Given the description of an element on the screen output the (x, y) to click on. 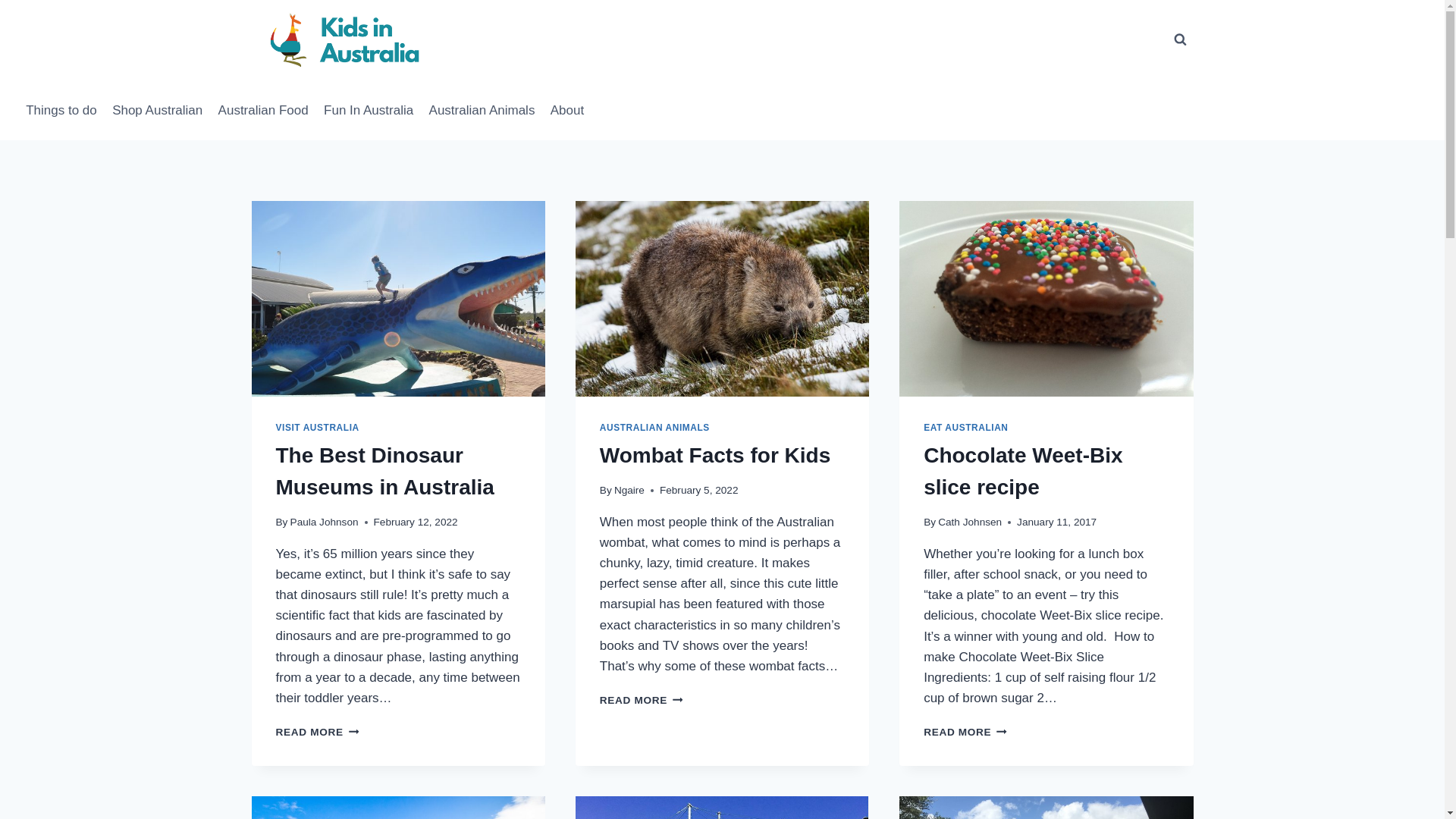
READ MORE Element type: text (641, 700)
VISIT AUSTRALIA Element type: text (317, 427)
AUSTRALIAN ANIMALS Element type: text (654, 427)
Ngaire Element type: text (629, 489)
About Element type: text (567, 109)
EAT AUSTRALIAN Element type: text (965, 427)
Wombat Facts for Kids Element type: text (714, 455)
Australian Food Element type: text (262, 109)
Things to do Element type: text (61, 109)
Chocolate Weet-Bix slice recipe Element type: text (1022, 470)
Paula Johnson Element type: text (324, 521)
READ MORE Element type: text (317, 731)
Fun In Australia Element type: text (368, 109)
Shop Australian Element type: text (157, 109)
The Best Dinosaur Museums in Australia Element type: text (385, 470)
READ MORE Element type: text (965, 731)
Cath Johnsen Element type: text (969, 521)
Australian Animals Element type: text (481, 109)
